Given the description of an element on the screen output the (x, y) to click on. 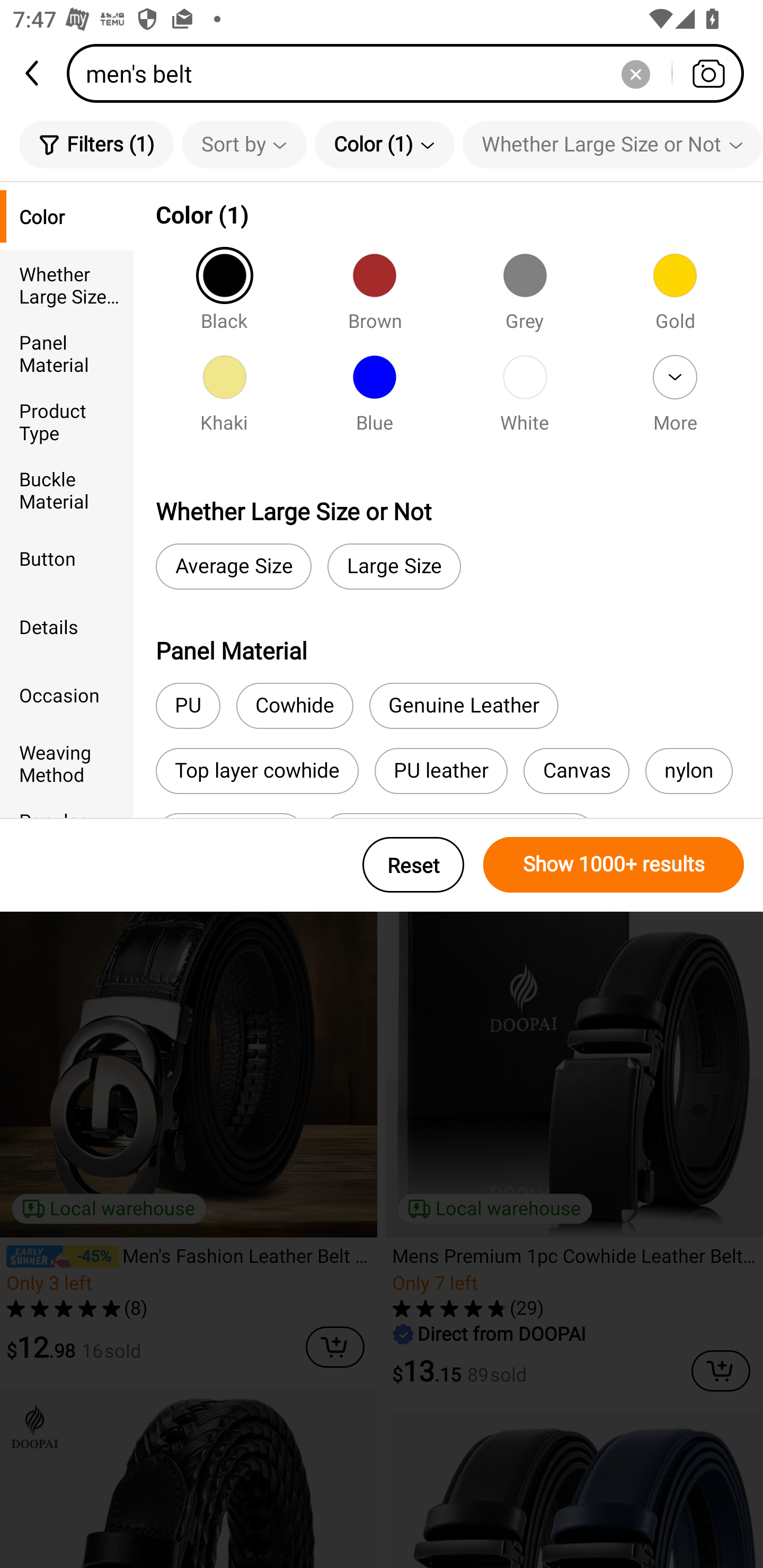
back (33, 72)
men's belt (411, 73)
Delete search history (635, 73)
Search by photo (708, 73)
Filters (1) (96, 143)
Sort by (243, 143)
Color (1) (384, 143)
Whether Large Size or Not (612, 143)
Color (66, 215)
Brown (374, 297)
Whether Large Size or Not (66, 284)
Panel Material (66, 352)
Khaki (224, 399)
More (674, 399)
Product Type (66, 421)
Buckle Material (66, 489)
Button (66, 557)
Average Size (233, 566)
Large Size (393, 566)
Details (66, 626)
Occasion (66, 694)
PU (187, 705)
Cowhide (294, 705)
Genuine Leather (463, 705)
Weaving Method (66, 762)
Top layer cowhide (256, 770)
PU leather (440, 770)
Canvas (576, 770)
nylon (688, 770)
Reset (412, 864)
Show 1000+ results (612, 864)
